Given the description of an element on the screen output the (x, y) to click on. 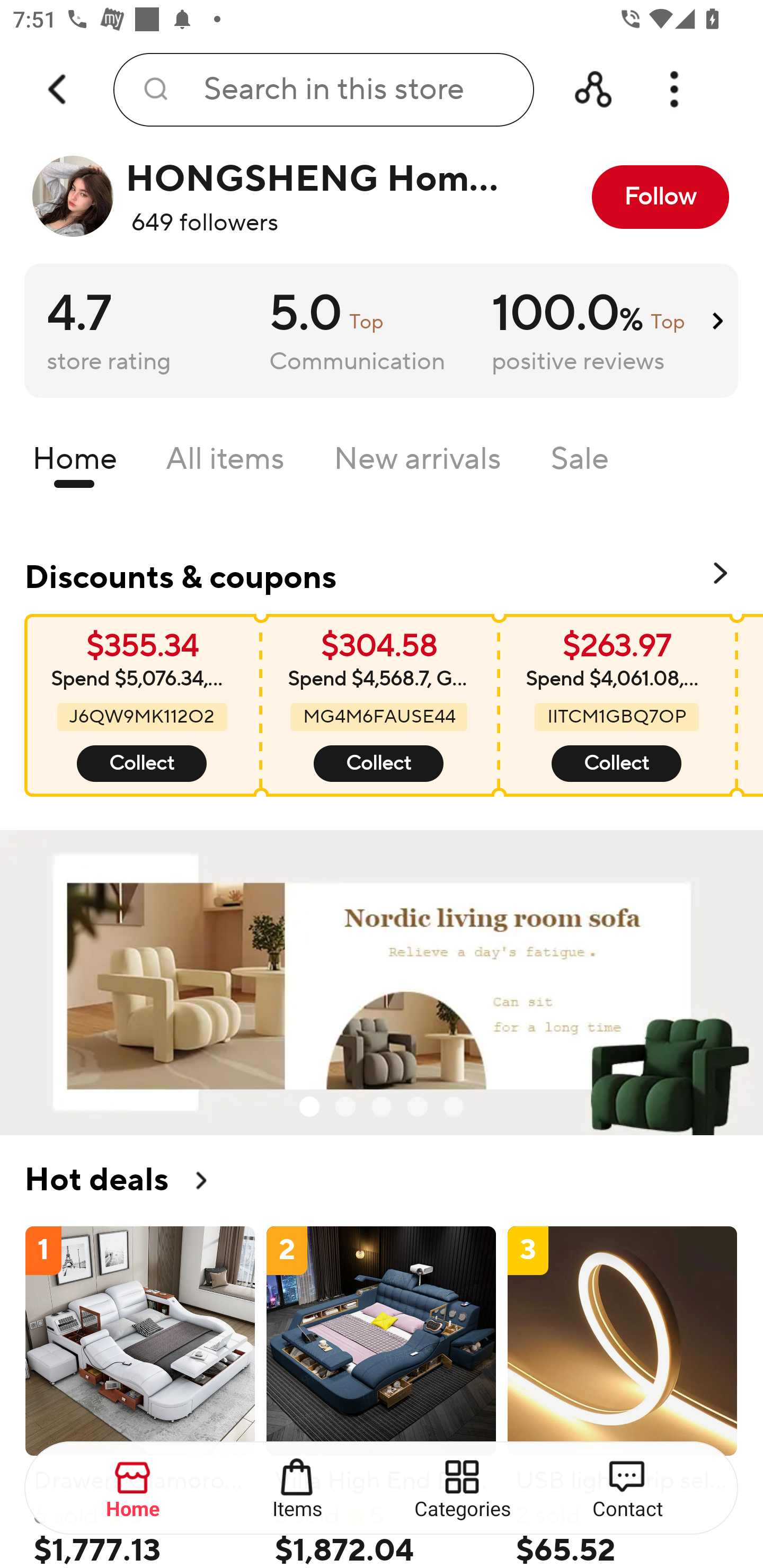
Search in this store (323, 90)
HONGSHENG Hom…  649 followers (272, 196)
Follow (660, 196)
Home (74, 463)
All items (225, 463)
New arrivals
 (418, 463)
Sale (579, 463)
Discounts & coupons (381, 573)
Collect (141, 763)
Collect (378, 763)
Collect (616, 763)
Hot deals (381, 1180)
Home (133, 1488)
Items (297, 1488)
Categories (462, 1488)
Contact (627, 1488)
